Given the description of an element on the screen output the (x, y) to click on. 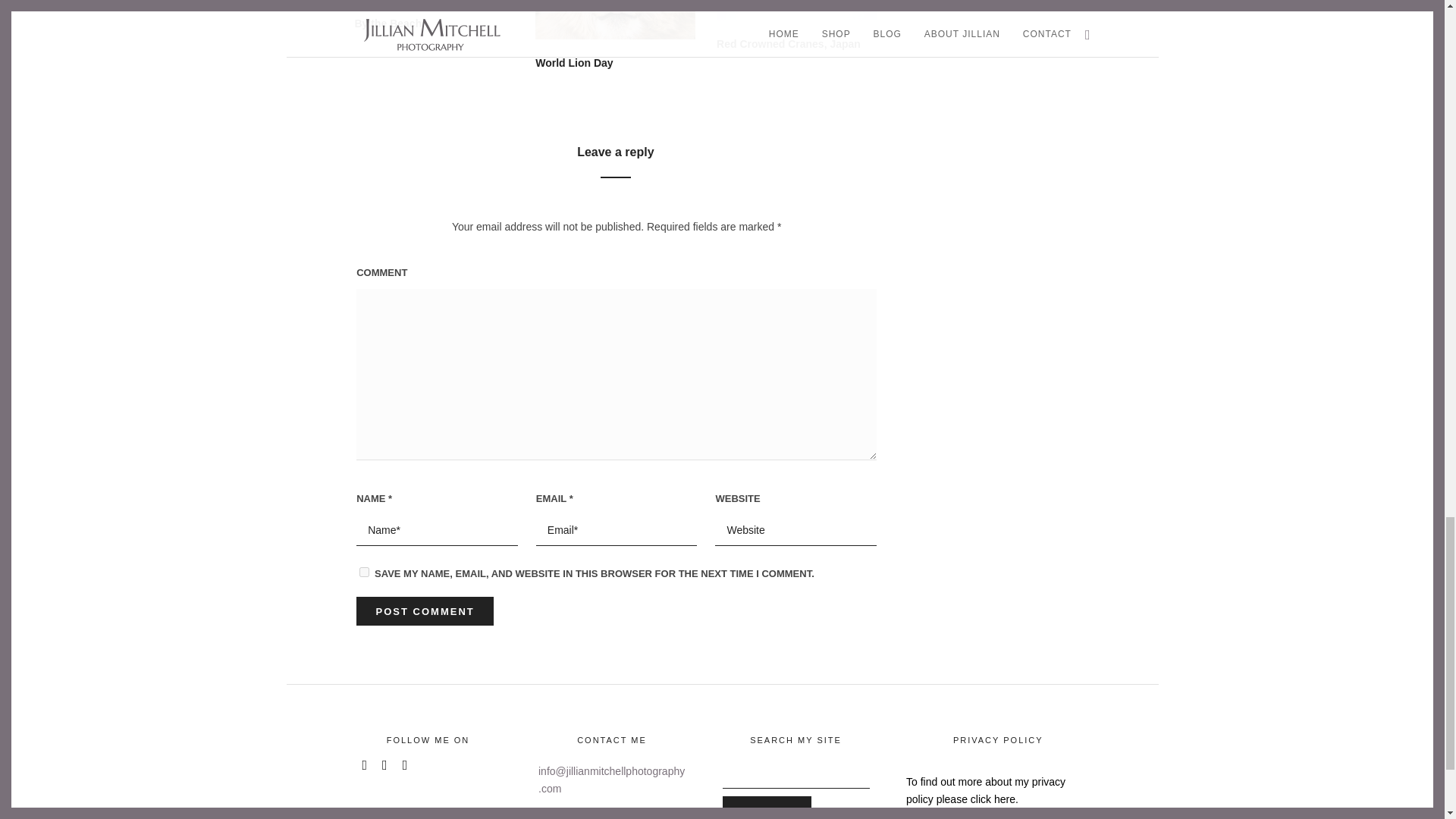
World Lion Day (573, 62)
Post Comment (424, 611)
yes (364, 572)
By the Beach (388, 23)
Search (766, 807)
Red Crowned Cranes, Japan (788, 43)
By the Beach (388, 23)
